Given the description of an element on the screen output the (x, y) to click on. 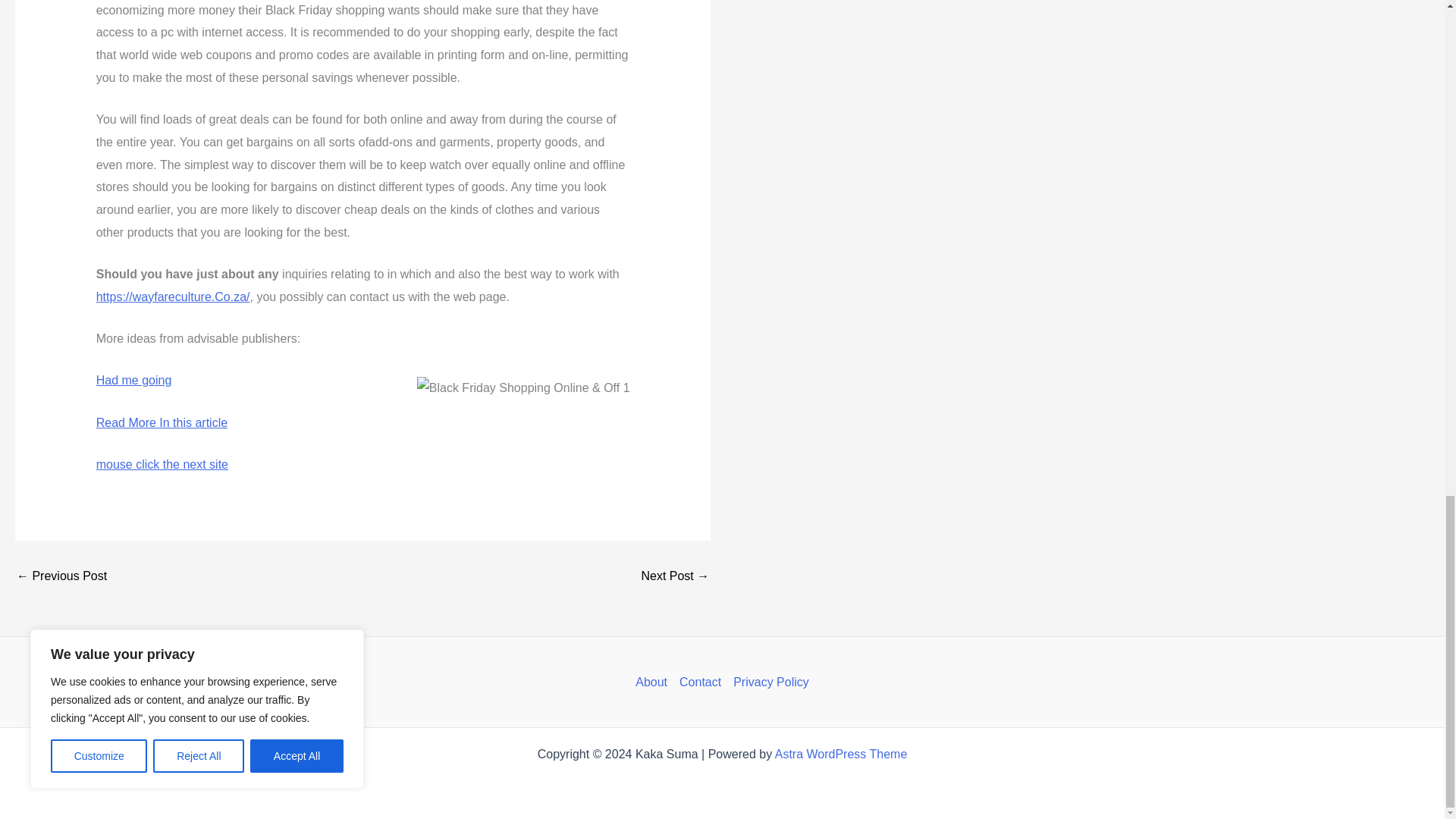
Read More In this article (161, 422)
Best Vape Tips For Freshmen (61, 576)
mouse click the next site (162, 463)
Had me going (133, 379)
Learn To Be Educated Using Your Community Information (674, 576)
